Given the description of an element on the screen output the (x, y) to click on. 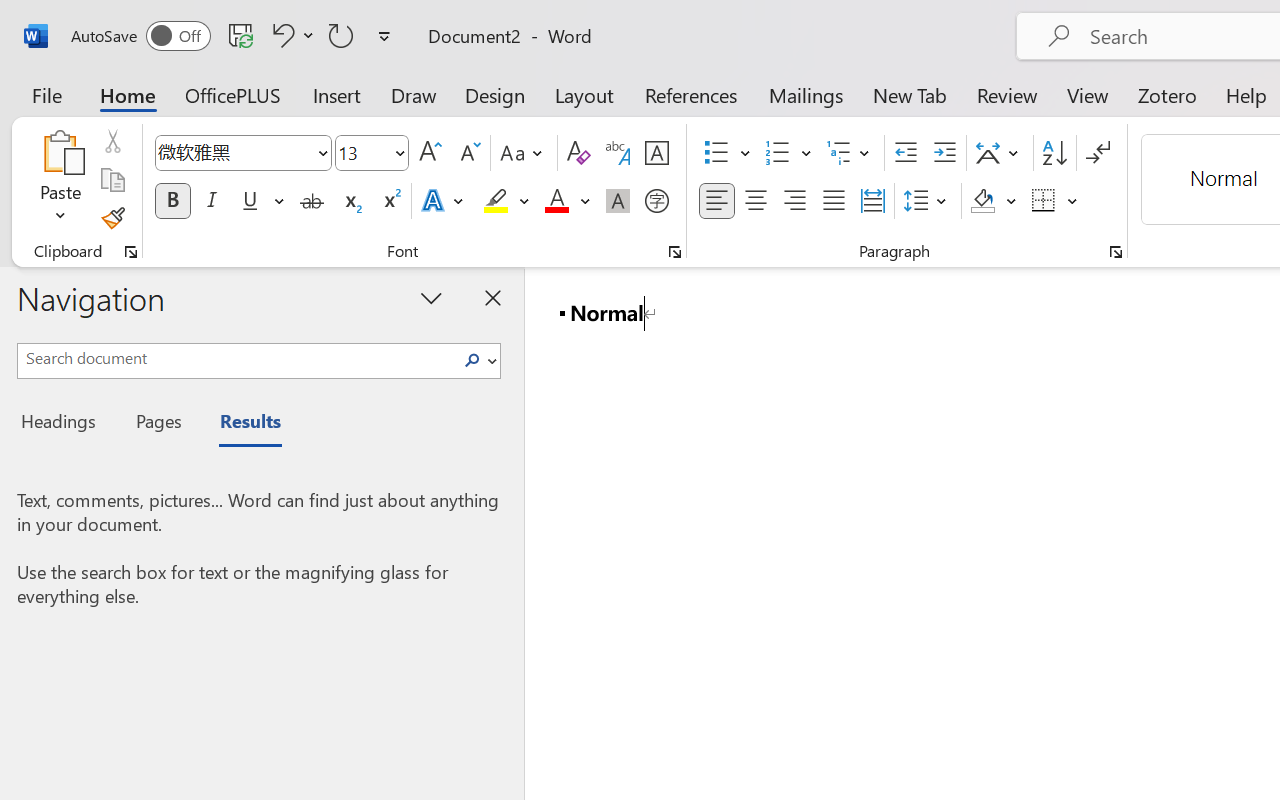
Shrink Font (468, 153)
Office Clipboard... (131, 252)
Bold (172, 201)
Paragraph... (1115, 252)
Asian Layout (1000, 153)
Align Right (794, 201)
Character Shading (618, 201)
Task Pane Options (431, 297)
Font... (675, 252)
Cut (112, 141)
Quick Access Toolbar (233, 36)
